Given the description of an element on the screen output the (x, y) to click on. 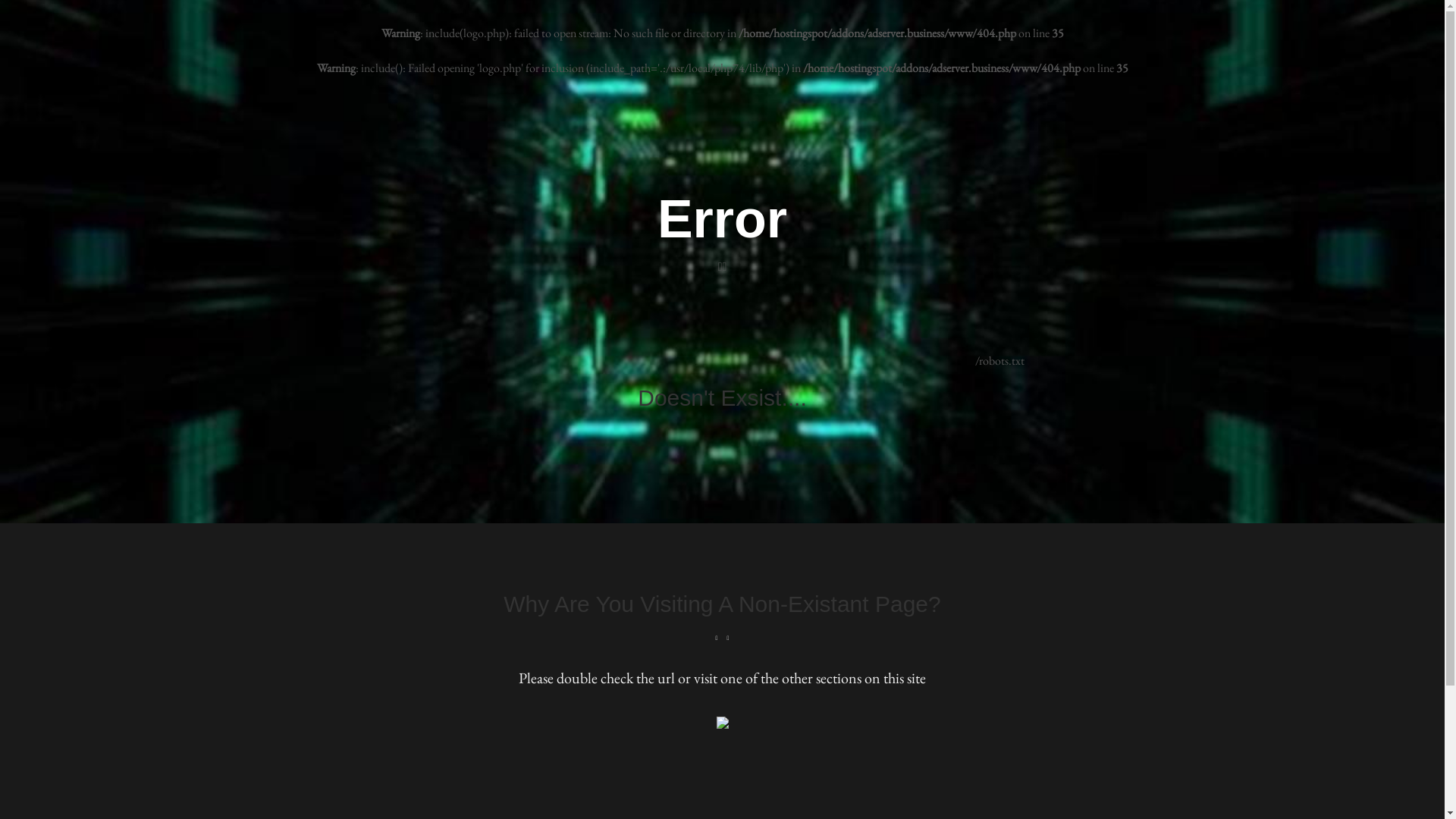
Advertisement Element type: hover (721, 698)
Advertisement Element type: hover (696, 330)
Advertisement Element type: hover (721, 765)
